Given the description of an element on the screen output the (x, y) to click on. 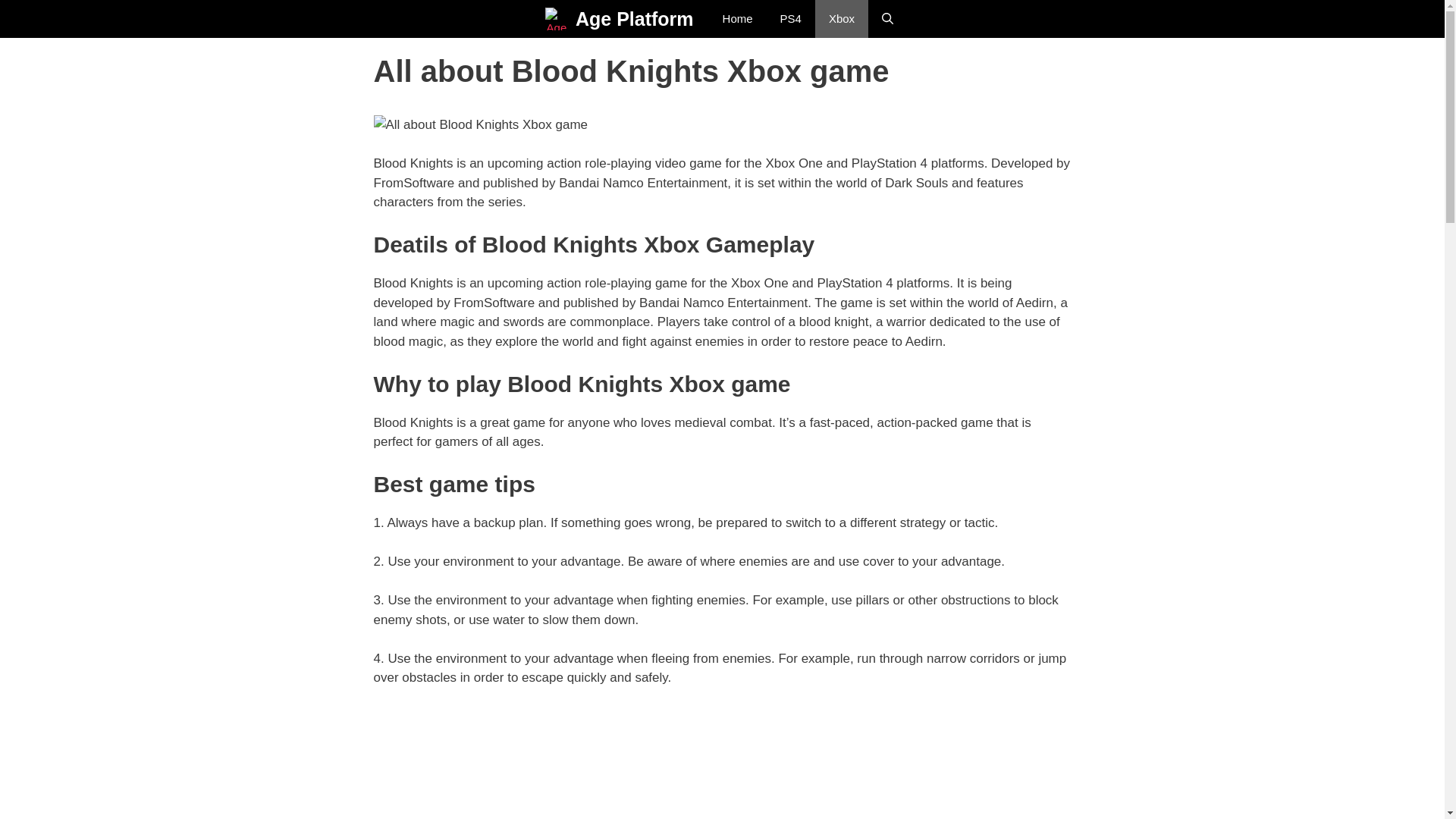
PS4 (791, 18)
Home (738, 18)
Xbox (841, 18)
Age Platform (634, 18)
